Given the description of an element on the screen output the (x, y) to click on. 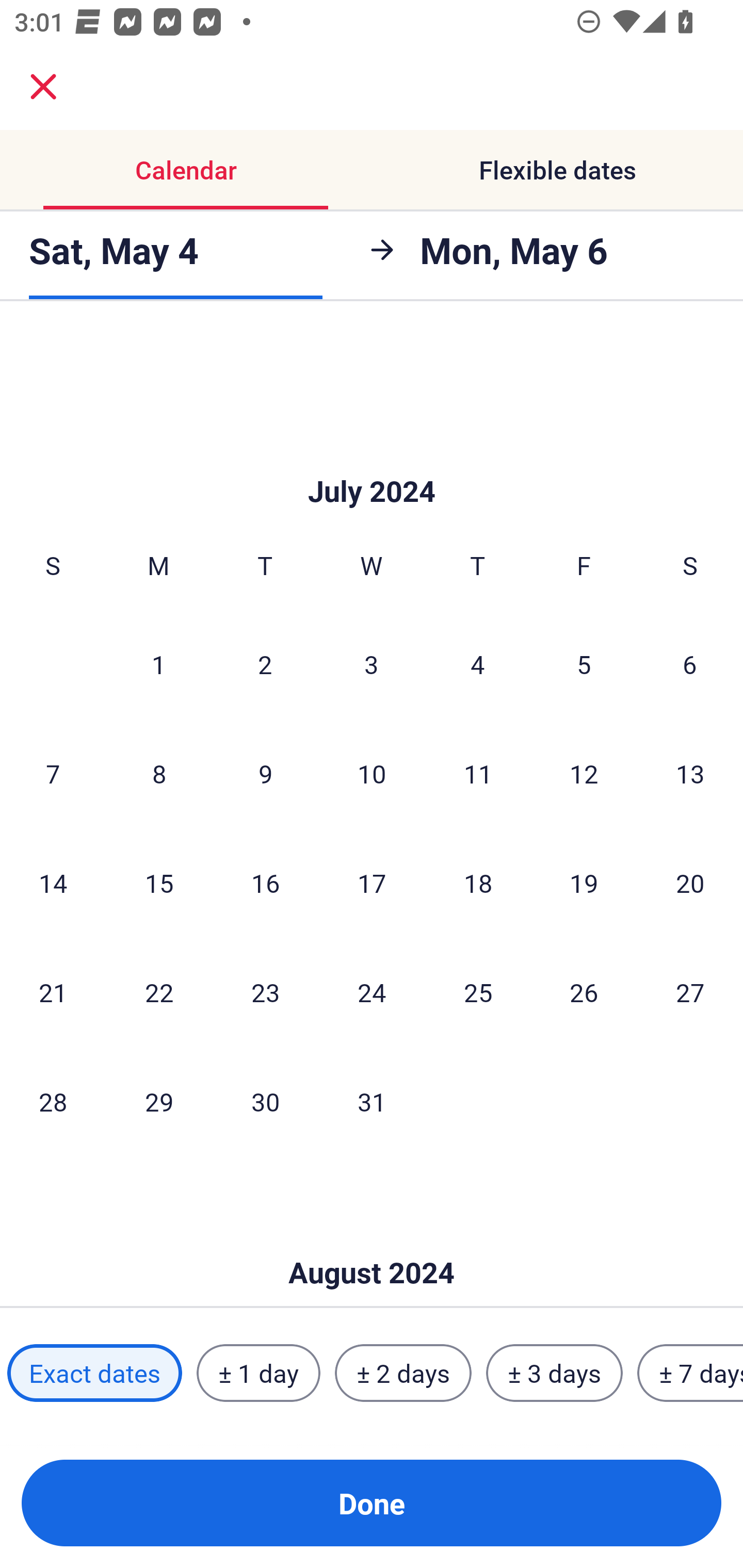
close. (43, 86)
Flexible dates (557, 170)
Skip to Done (371, 460)
1 Monday, July 1, 2024 (158, 663)
2 Tuesday, July 2, 2024 (264, 663)
3 Wednesday, July 3, 2024 (371, 663)
4 Thursday, July 4, 2024 (477, 663)
5 Friday, July 5, 2024 (583, 663)
6 Saturday, July 6, 2024 (689, 663)
7 Sunday, July 7, 2024 (53, 773)
8 Monday, July 8, 2024 (159, 773)
9 Tuesday, July 9, 2024 (265, 773)
10 Wednesday, July 10, 2024 (371, 773)
11 Thursday, July 11, 2024 (477, 773)
12 Friday, July 12, 2024 (584, 773)
13 Saturday, July 13, 2024 (690, 773)
14 Sunday, July 14, 2024 (53, 882)
15 Monday, July 15, 2024 (159, 882)
16 Tuesday, July 16, 2024 (265, 882)
17 Wednesday, July 17, 2024 (371, 882)
18 Thursday, July 18, 2024 (477, 882)
19 Friday, July 19, 2024 (584, 882)
20 Saturday, July 20, 2024 (690, 882)
21 Sunday, July 21, 2024 (53, 991)
22 Monday, July 22, 2024 (159, 991)
23 Tuesday, July 23, 2024 (265, 991)
24 Wednesday, July 24, 2024 (371, 991)
25 Thursday, July 25, 2024 (477, 991)
26 Friday, July 26, 2024 (584, 991)
27 Saturday, July 27, 2024 (690, 991)
28 Sunday, July 28, 2024 (53, 1101)
29 Monday, July 29, 2024 (159, 1101)
30 Tuesday, July 30, 2024 (265, 1101)
31 Wednesday, July 31, 2024 (371, 1101)
Skip to Done (371, 1241)
Exact dates (94, 1372)
± 1 day (258, 1372)
± 2 days (403, 1372)
± 3 days (553, 1372)
± 7 days (690, 1372)
Done (371, 1502)
